Given the description of an element on the screen output the (x, y) to click on. 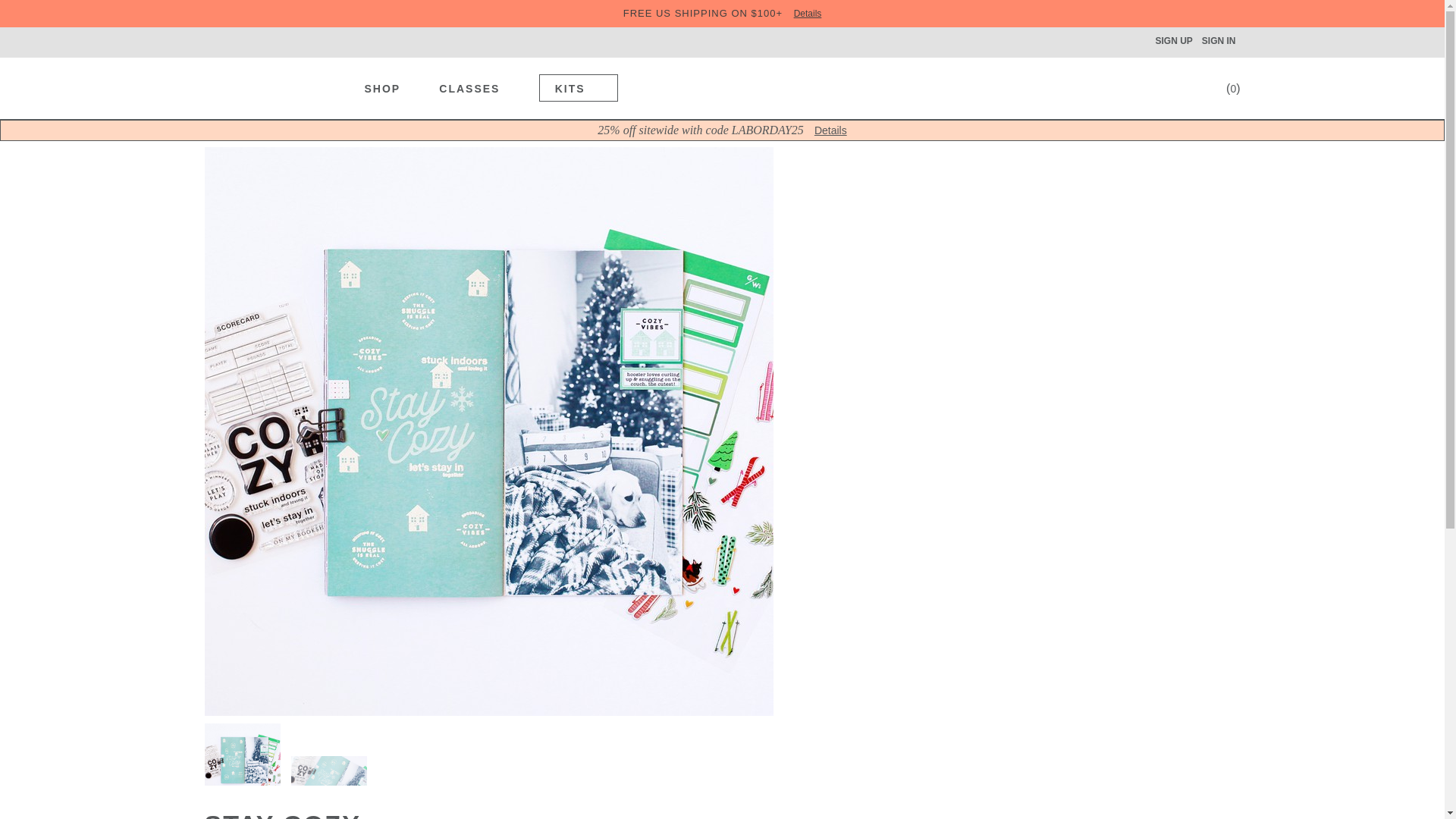
SIGN IN (1218, 40)
SHOP (390, 87)
SIGN UP (1173, 40)
Details (807, 13)
Studio Calico (271, 86)
